Given the description of an element on the screen output the (x, y) to click on. 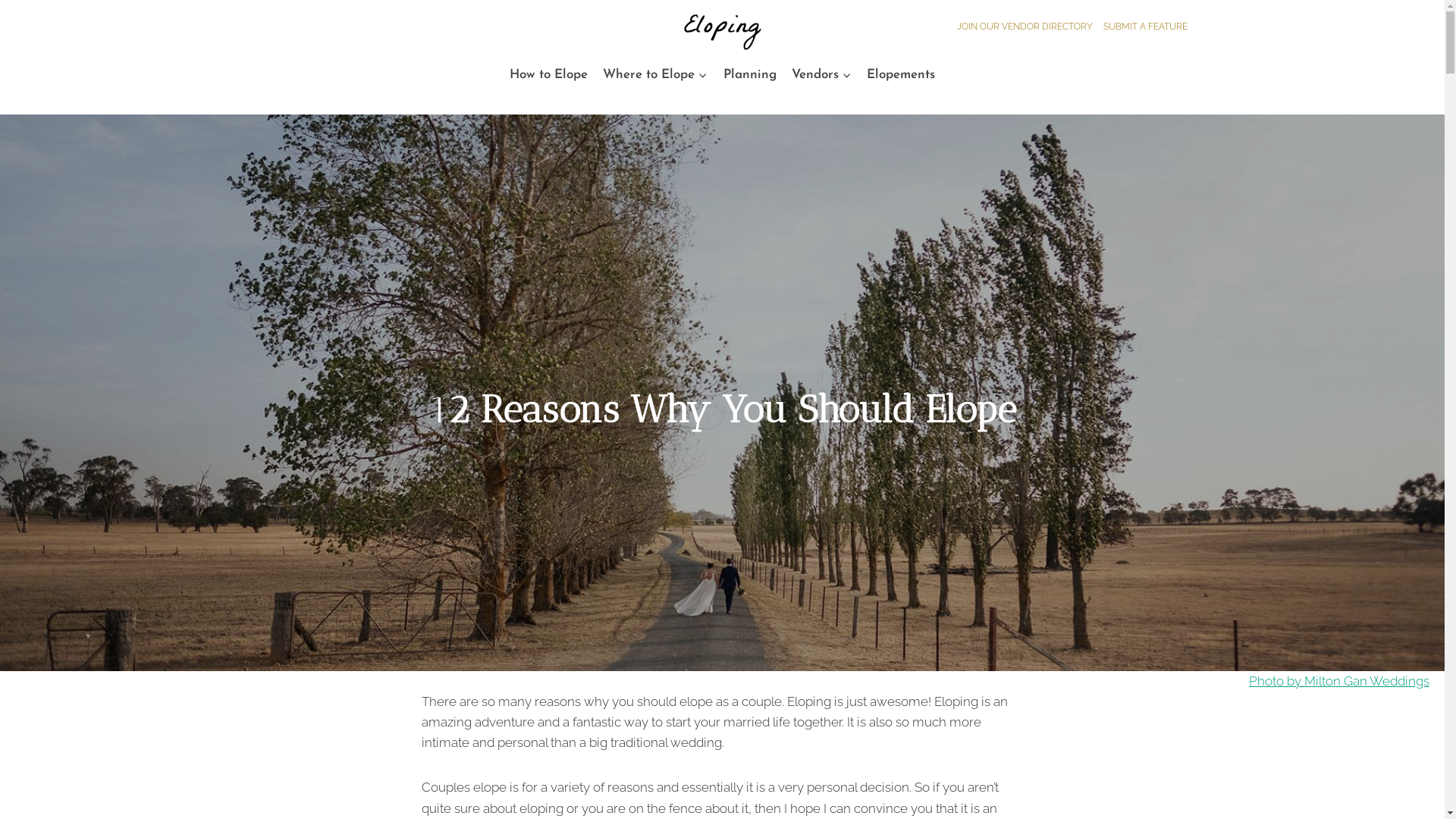
JOIN OUR VENDOR DIRECTORY Element type: text (1024, 27)
Where to Elope Element type: text (655, 74)
Elopements Element type: text (900, 74)
SUBMIT A FEATURE Element type: text (1145, 27)
Planning Element type: text (749, 74)
Vendors Element type: text (821, 74)
Photo by Milton Gan Weddings Element type: text (1338, 680)
How to Elope Element type: text (548, 74)
